Given the description of an element on the screen output the (x, y) to click on. 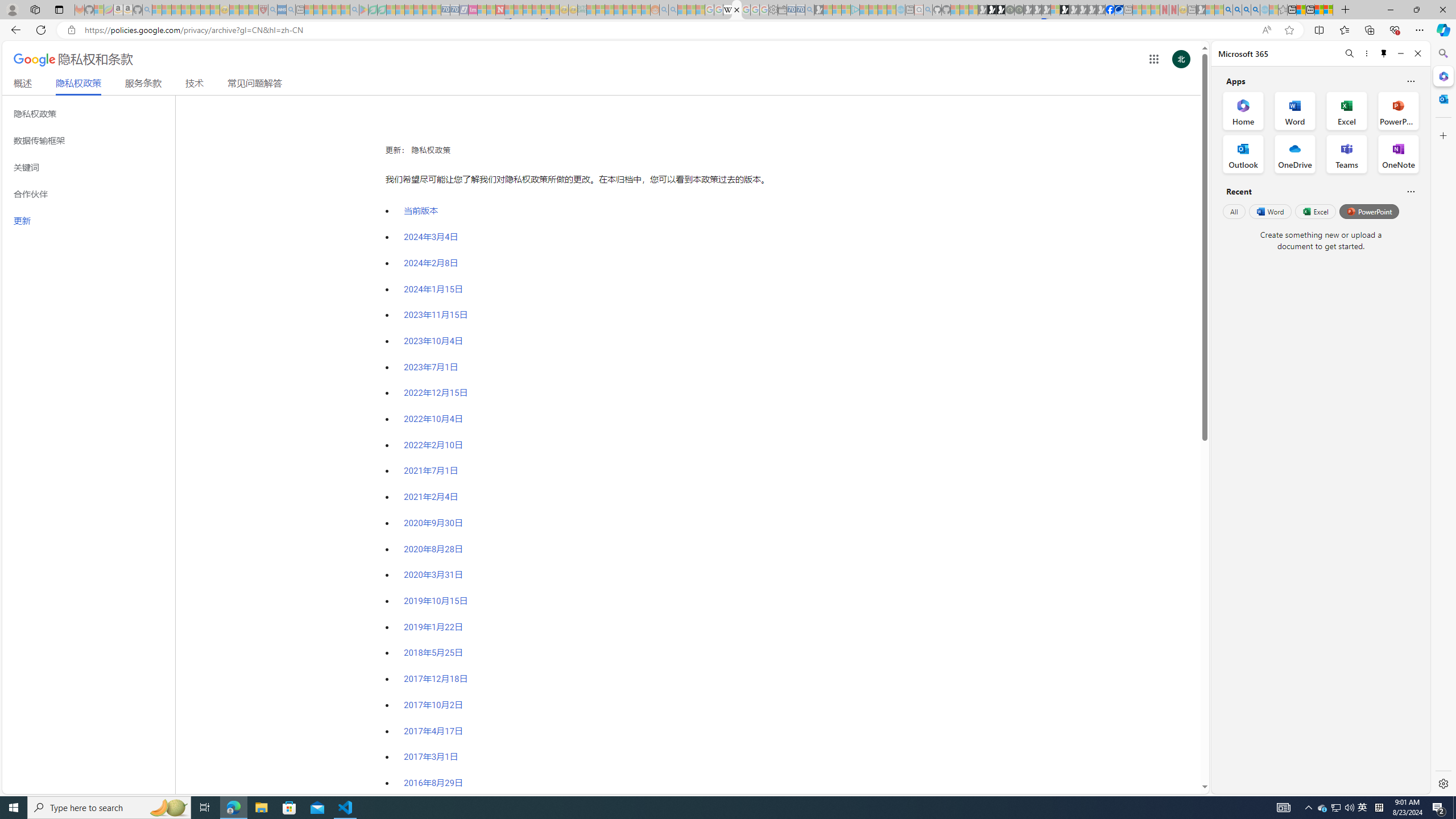
14 Common Myths Debunked By Scientific Facts - Sleeping (518, 9)
Outlook Office App (1243, 154)
DITOGAMES AG Imprint - Sleeping (581, 9)
MSNBC - MSN - Sleeping (590, 9)
Latest Politics News & Archive | Newsweek.com - Sleeping (499, 9)
The Weather Channel - MSN - Sleeping (175, 9)
Microsoft account | Privacy - Sleeping (846, 9)
